Given the description of an element on the screen output the (x, y) to click on. 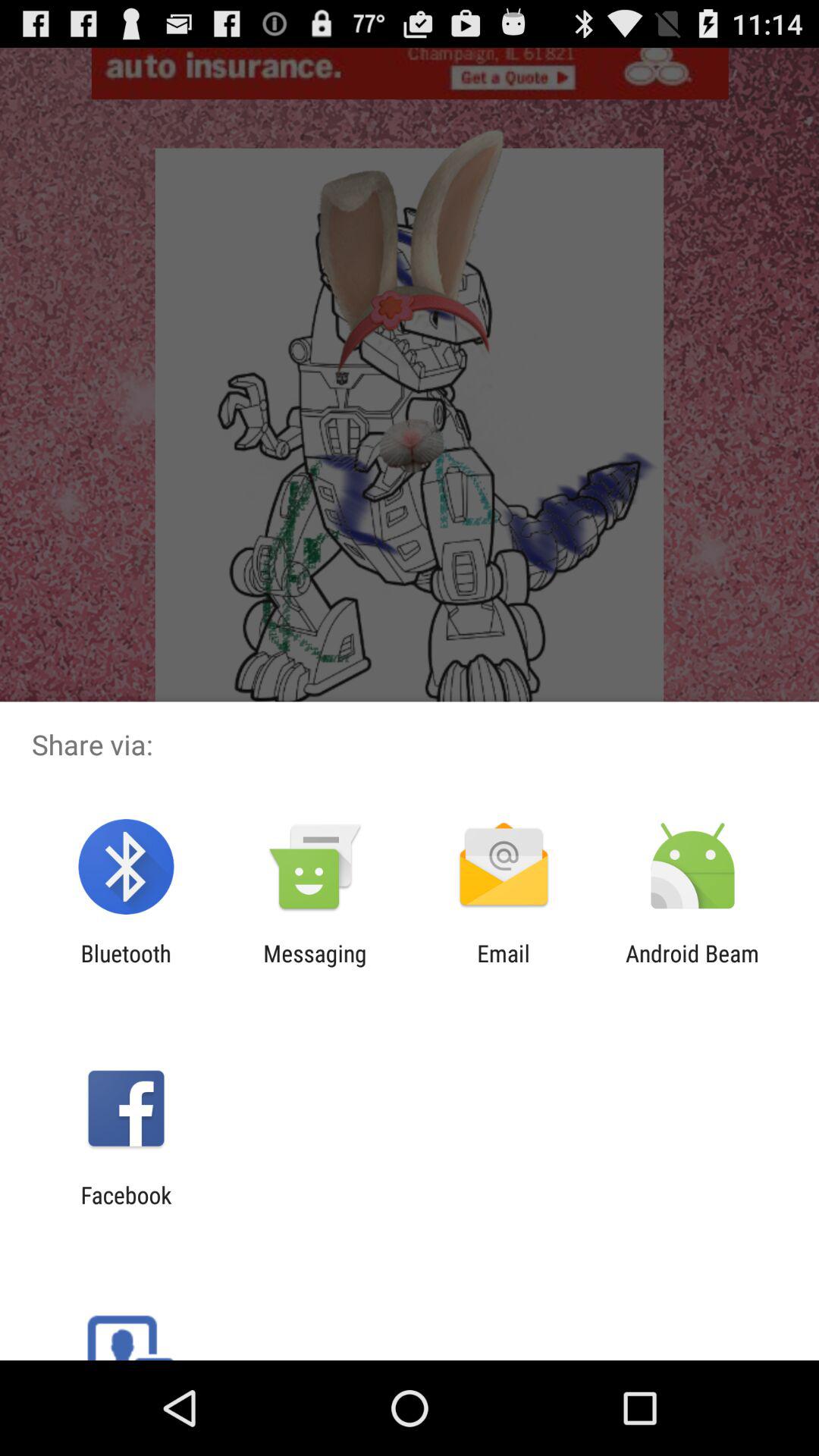
select the item to the right of bluetooth icon (314, 966)
